Given the description of an element on the screen output the (x, y) to click on. 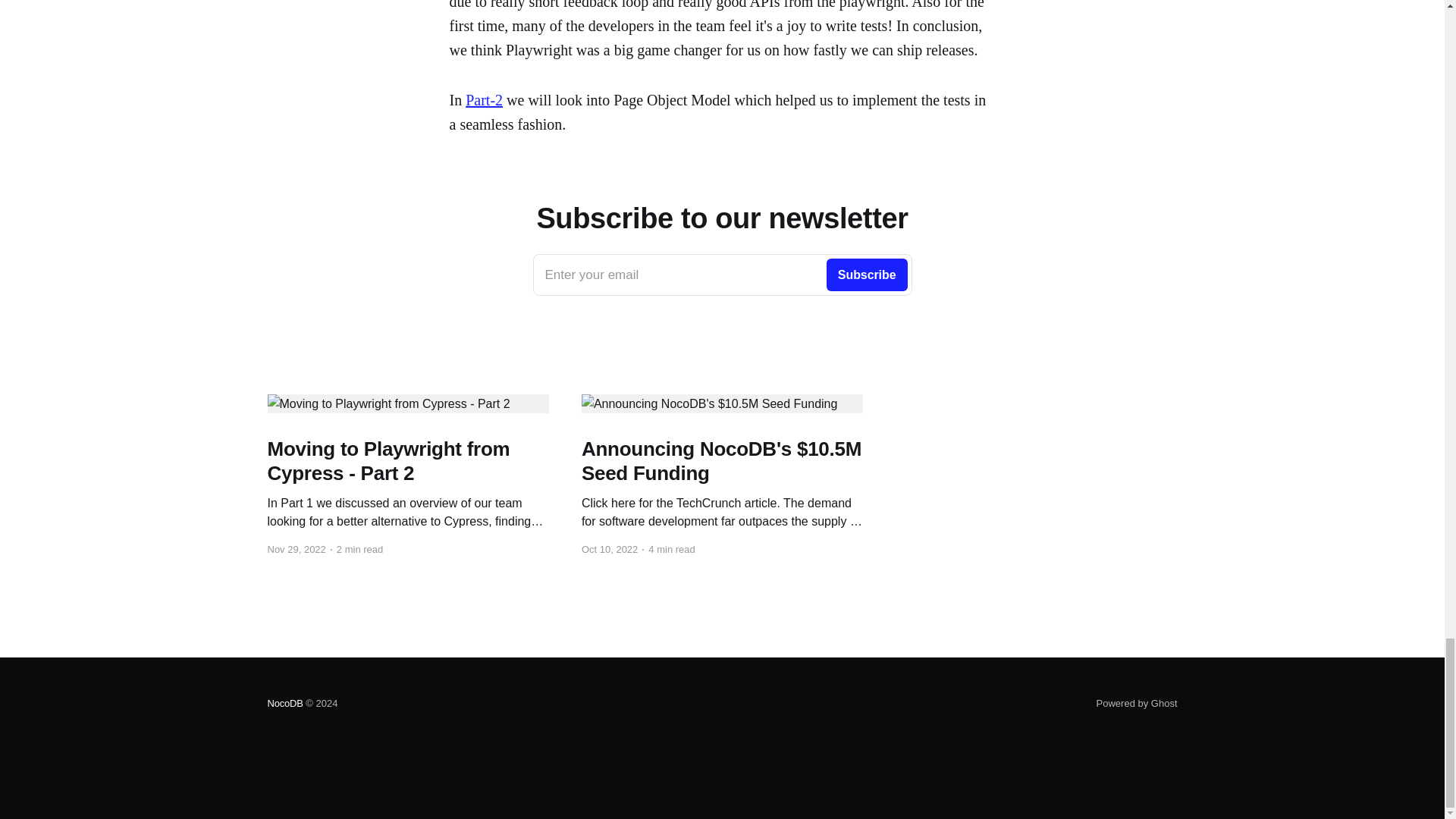
Powered by Ghost (1136, 703)
NocoDB (284, 703)
Part-2 (483, 99)
